Given the description of an element on the screen output the (x, y) to click on. 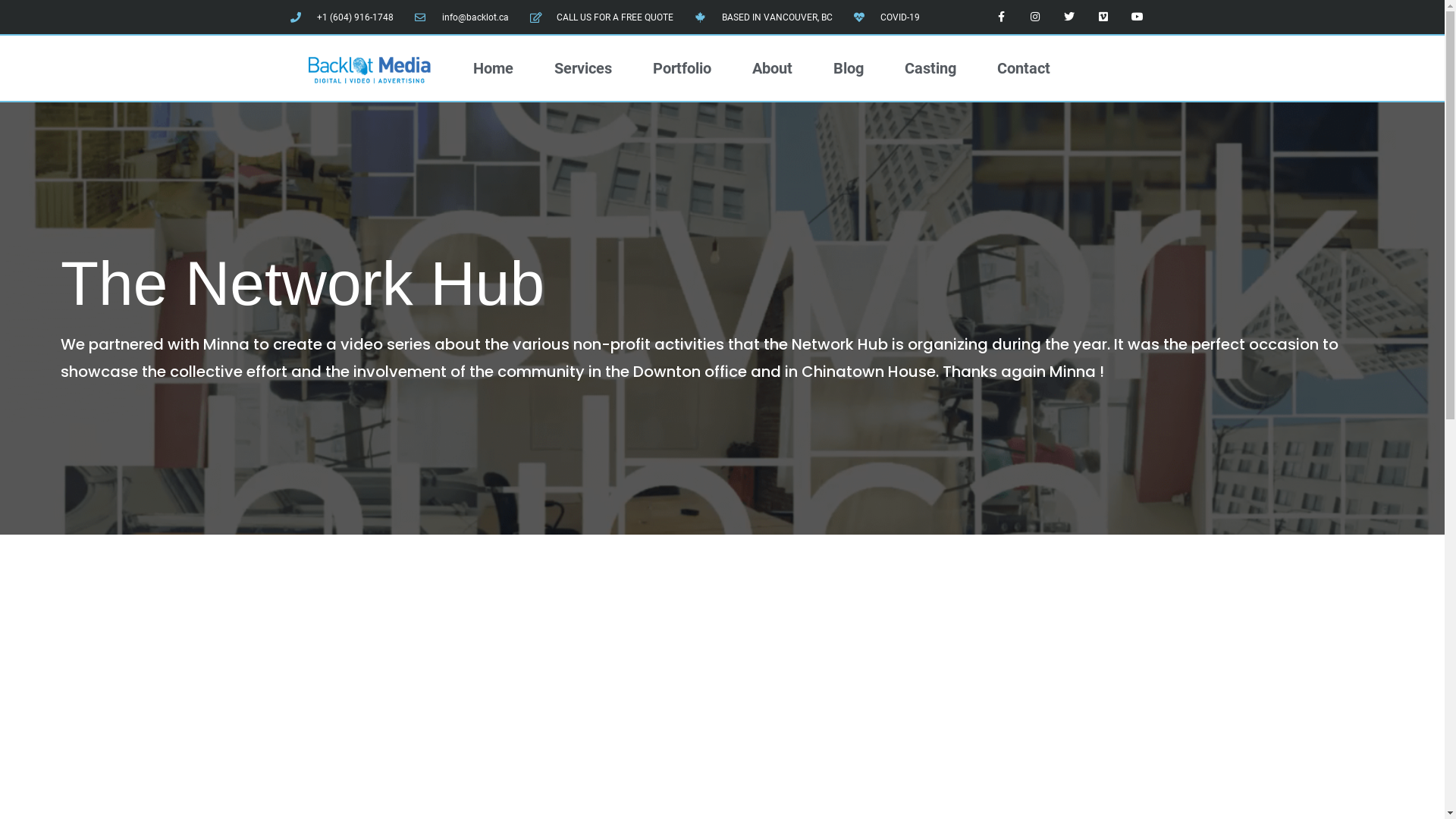
Blog Element type: text (848, 68)
+1 (604) 916-1748 Element type: text (341, 17)
Home Element type: text (492, 68)
About Element type: text (771, 68)
Services Element type: text (582, 68)
Portfolio Element type: text (681, 68)
info@backlot.ca Element type: text (461, 17)
Casting Element type: text (930, 68)
Contact Element type: text (1023, 68)
COVID-19 Element type: text (886, 17)
